Given the description of an element on the screen output the (x, y) to click on. 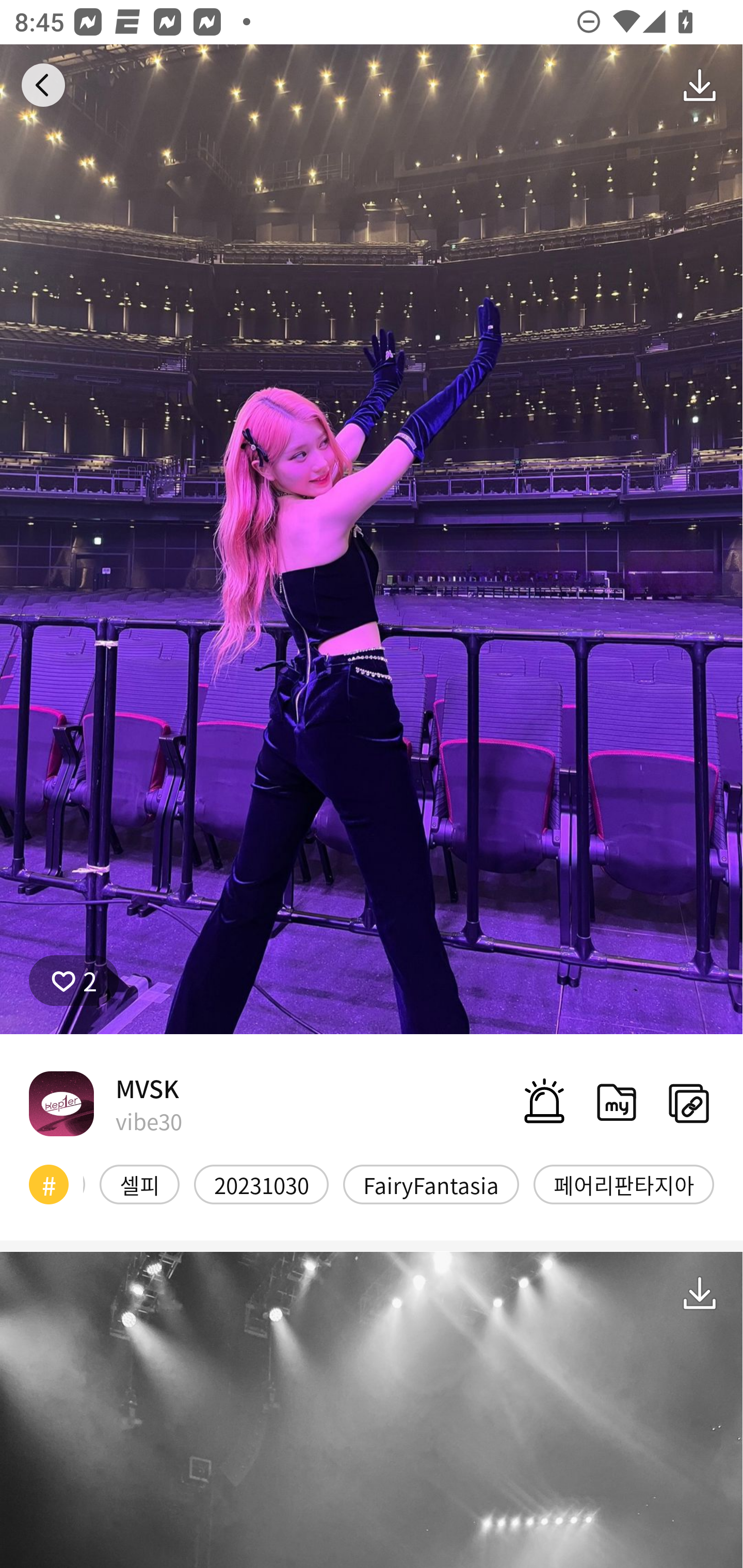
2 (73, 980)
MVSK vibe30 (105, 1102)
셀피 (139, 1184)
20231030 (260, 1184)
FairyFantasia (431, 1184)
페어리판타지아 (623, 1184)
